Given the description of an element on the screen output the (x, y) to click on. 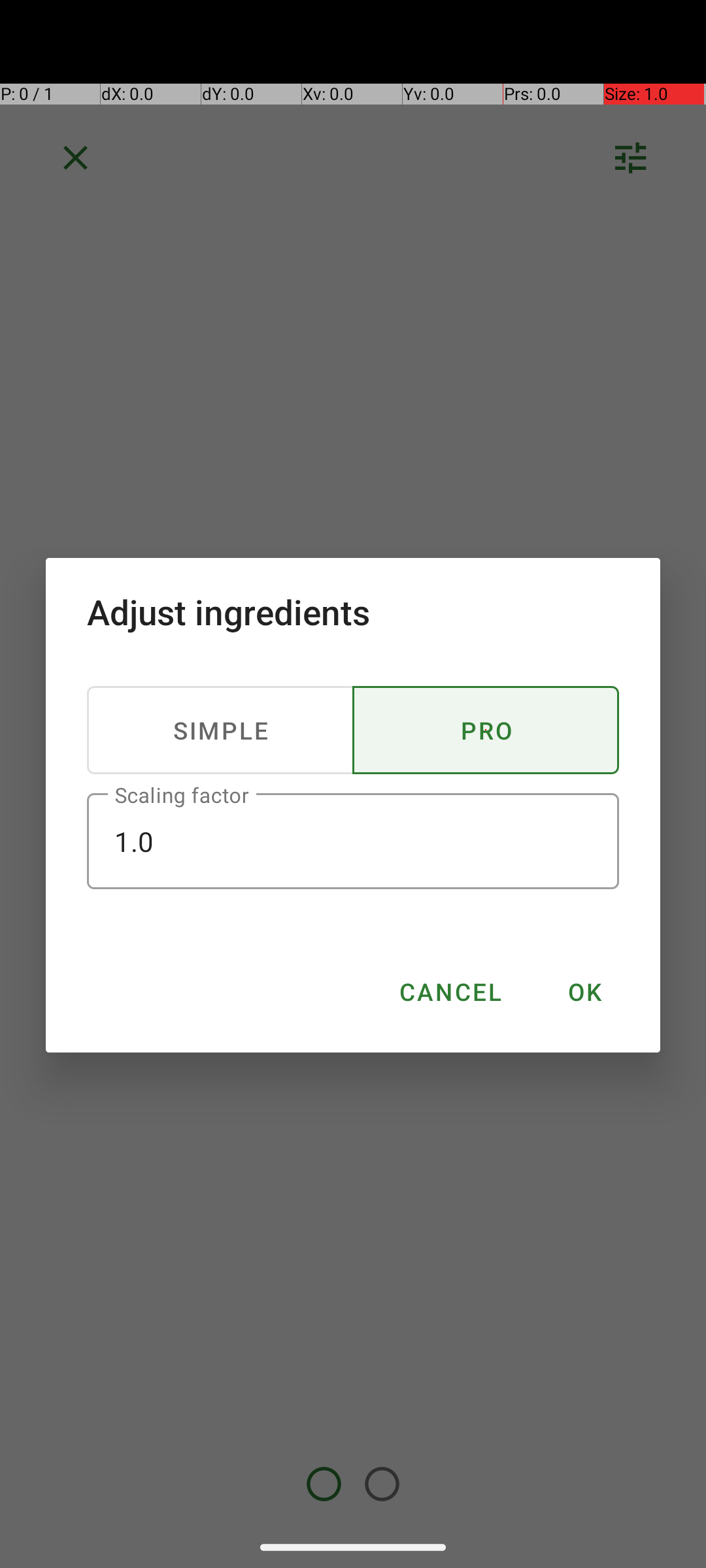
1.0 Element type: android.widget.EditText (352, 841)
